Given the description of an element on the screen output the (x, y) to click on. 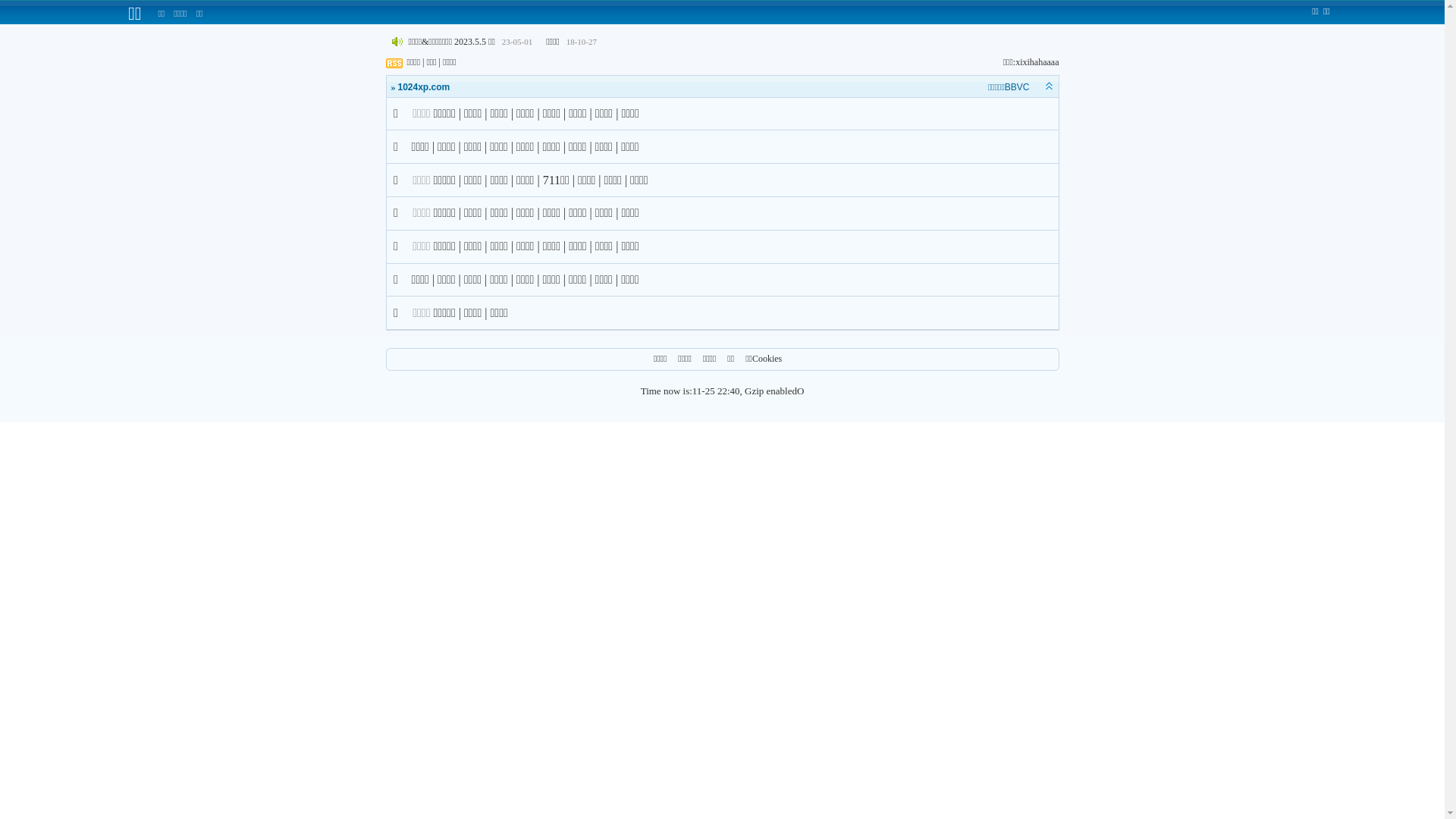
BBVC Element type: text (1016, 86)
xixihahaaaa Element type: text (1036, 61)
1024xp.com Element type: text (423, 86)
